Given the description of an element on the screen output the (x, y) to click on. 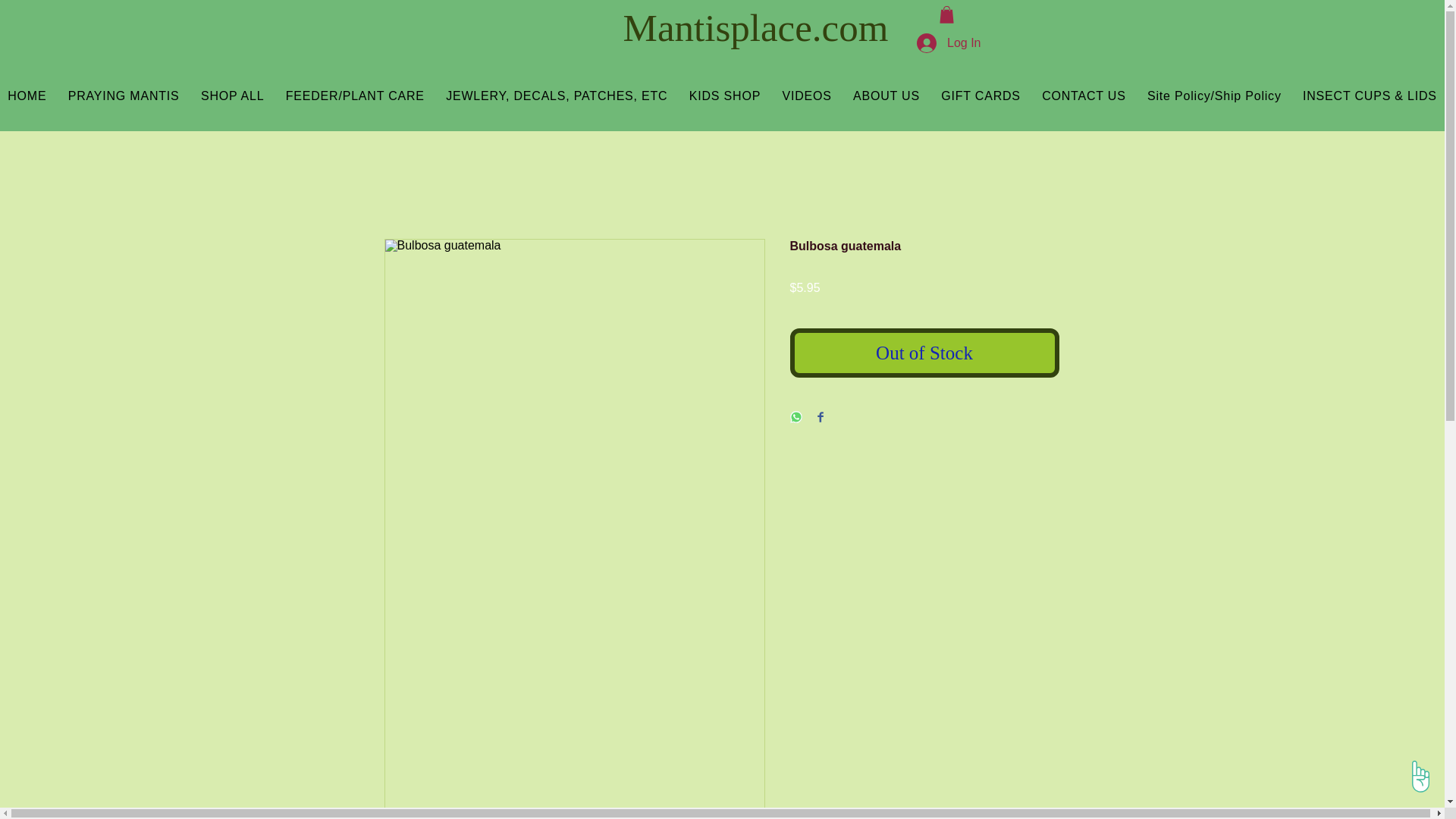
Out of Stock (924, 353)
HOME (27, 95)
PRAYING MANTIS (124, 95)
JEWLERY, DECALS, PATCHES, ETC (556, 95)
Log In (948, 42)
CONTACT US (1083, 95)
KIDS SHOP (724, 95)
ABOUT US (886, 95)
GIFT CARDS (980, 95)
VIDEOS (807, 95)
